Given the description of an element on the screen output the (x, y) to click on. 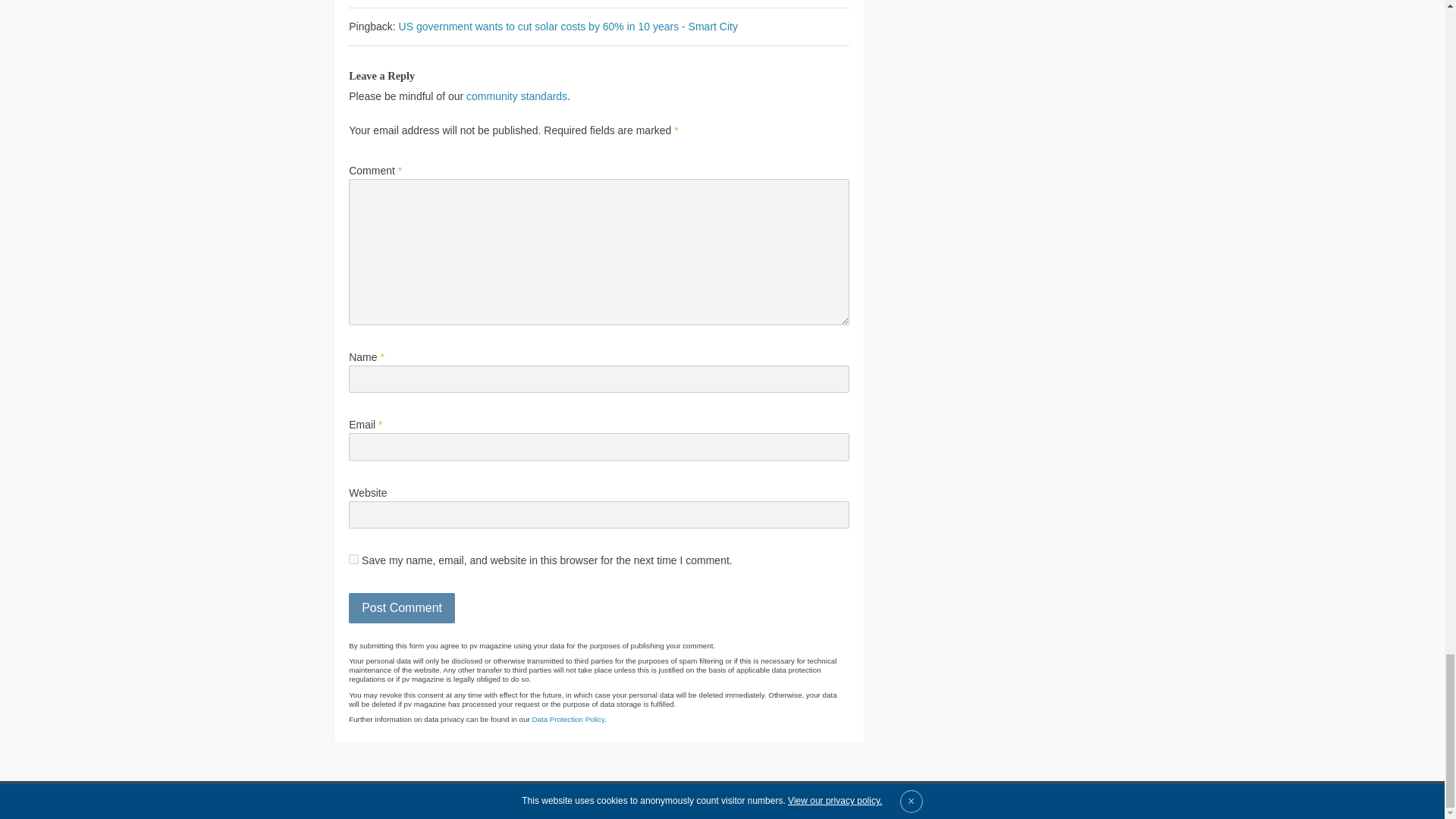
Post Comment (401, 607)
yes (353, 559)
